Given the description of an element on the screen output the (x, y) to click on. 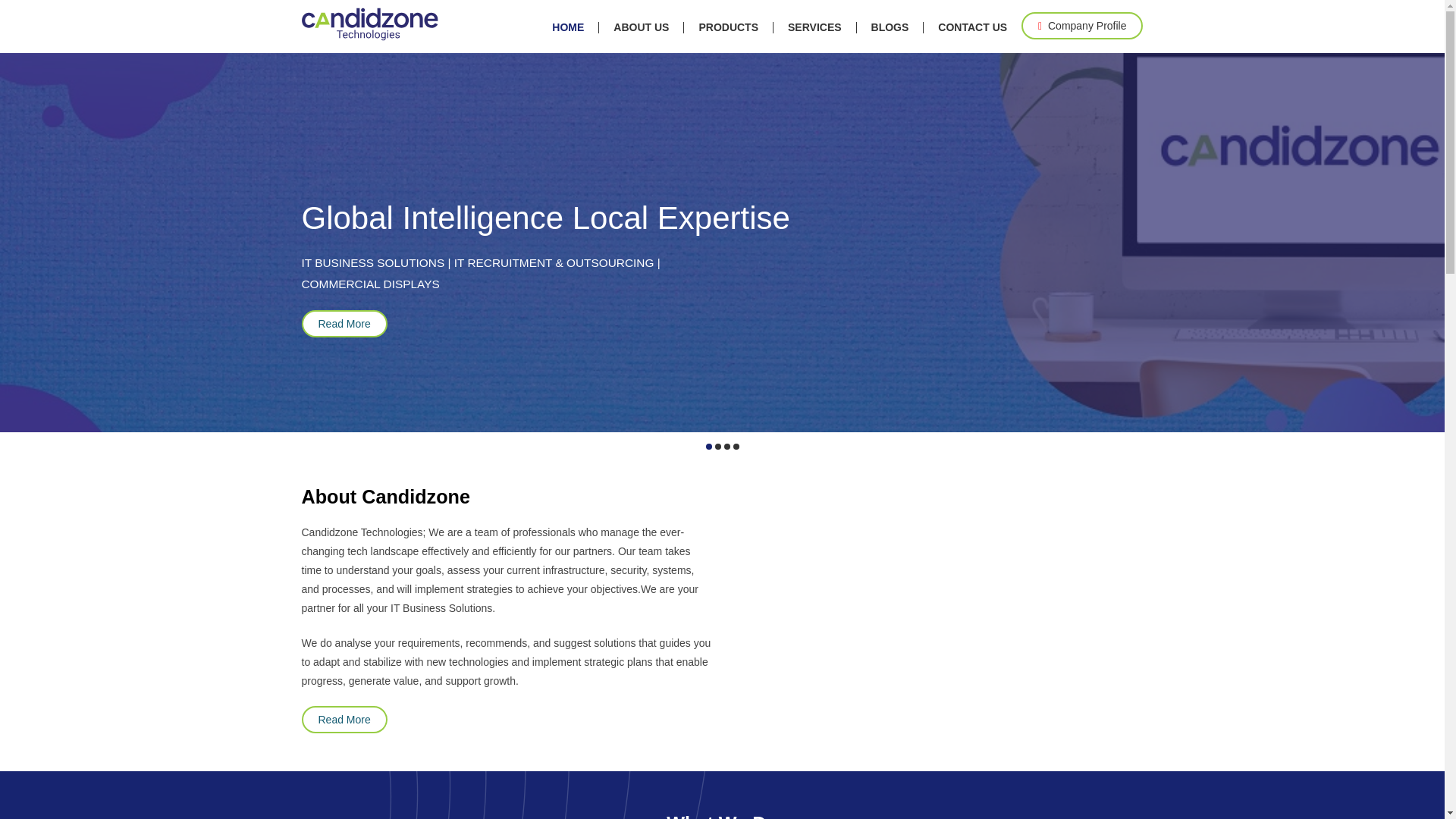
SERVICES (814, 28)
ABOUT US (640, 28)
PRODUCTS (728, 28)
Read More (344, 323)
 Company Profile (1082, 25)
BLOGS (889, 28)
CONTACT US (972, 28)
Read More (344, 719)
HOME (567, 28)
